Given the description of an element on the screen output the (x, y) to click on. 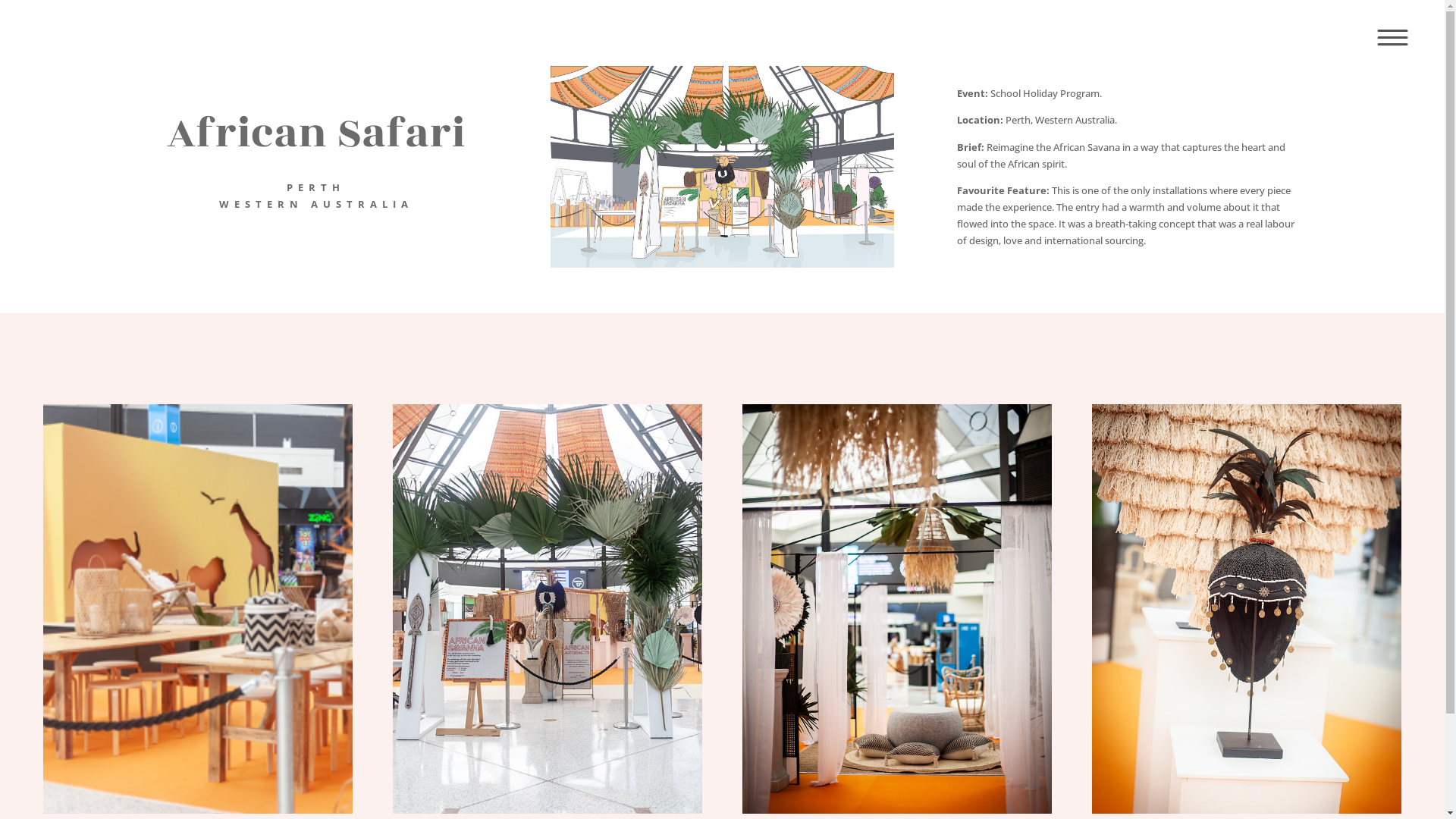
Lion king illustration Draft 1 Element type: hover (721, 166)
